Given the description of an element on the screen output the (x, y) to click on. 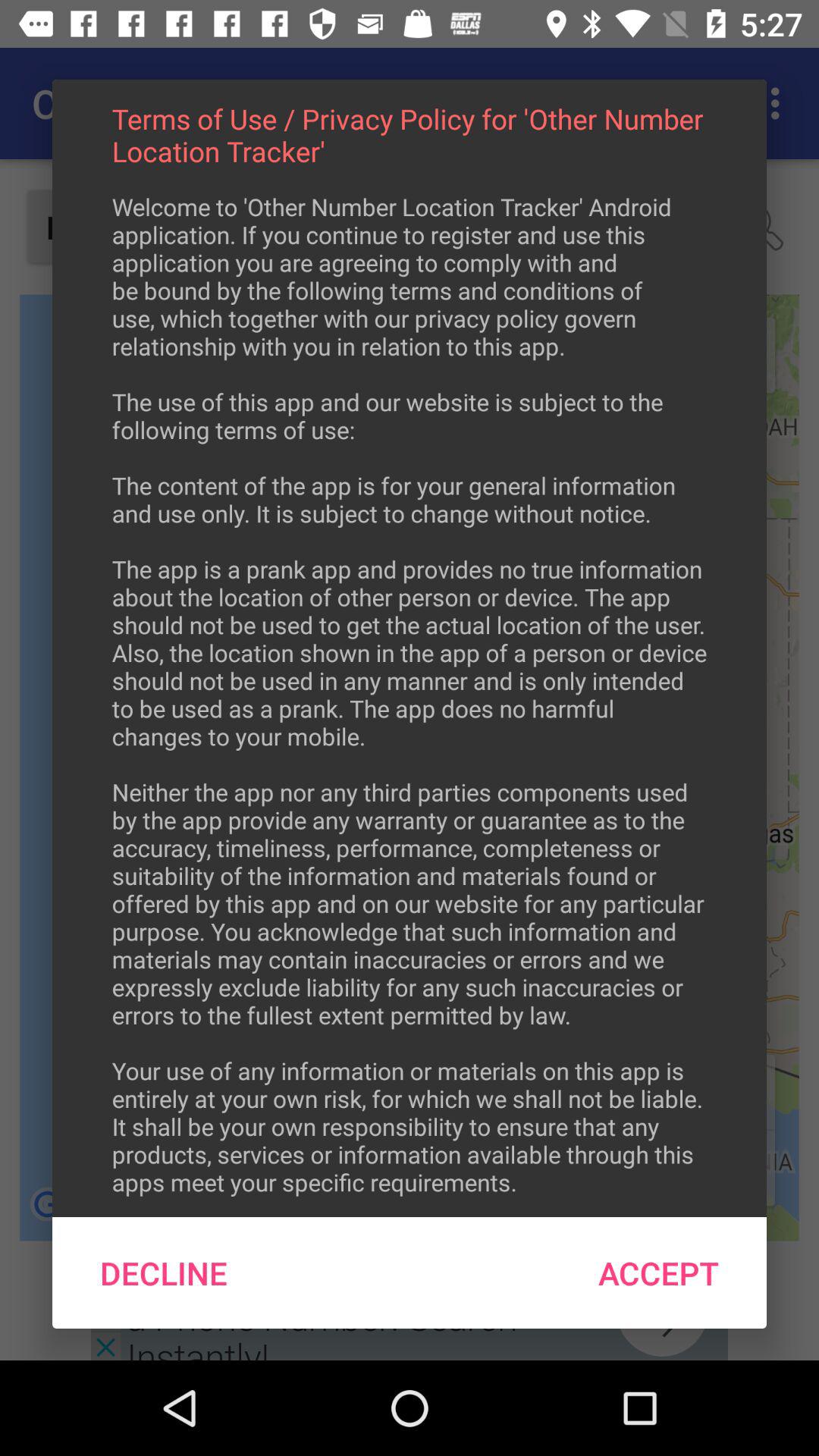
select the item to the left of the accept icon (163, 1272)
